Given the description of an element on the screen output the (x, y) to click on. 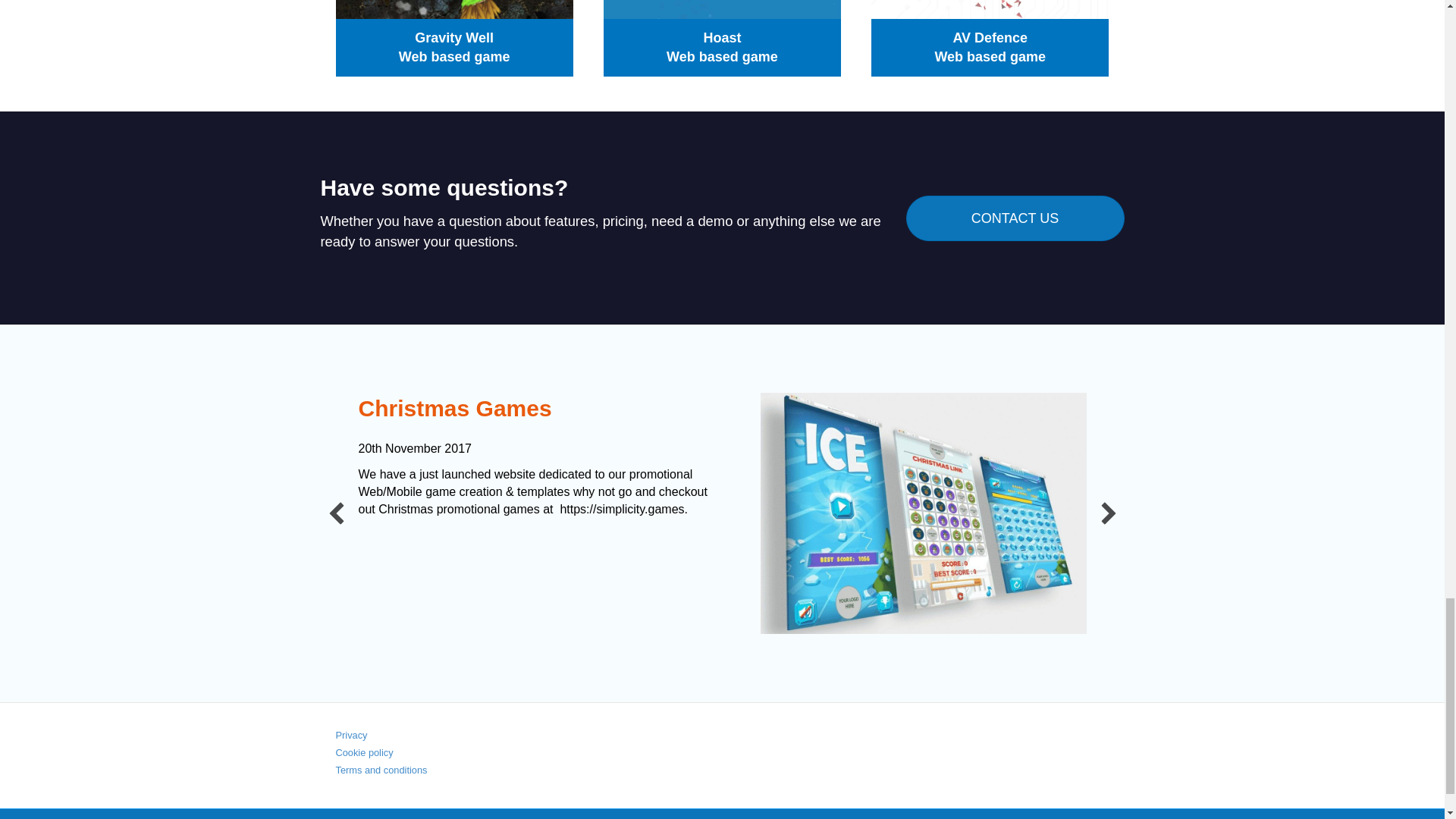
Christmas Games (454, 407)
header (923, 513)
